Given the description of an element on the screen output the (x, y) to click on. 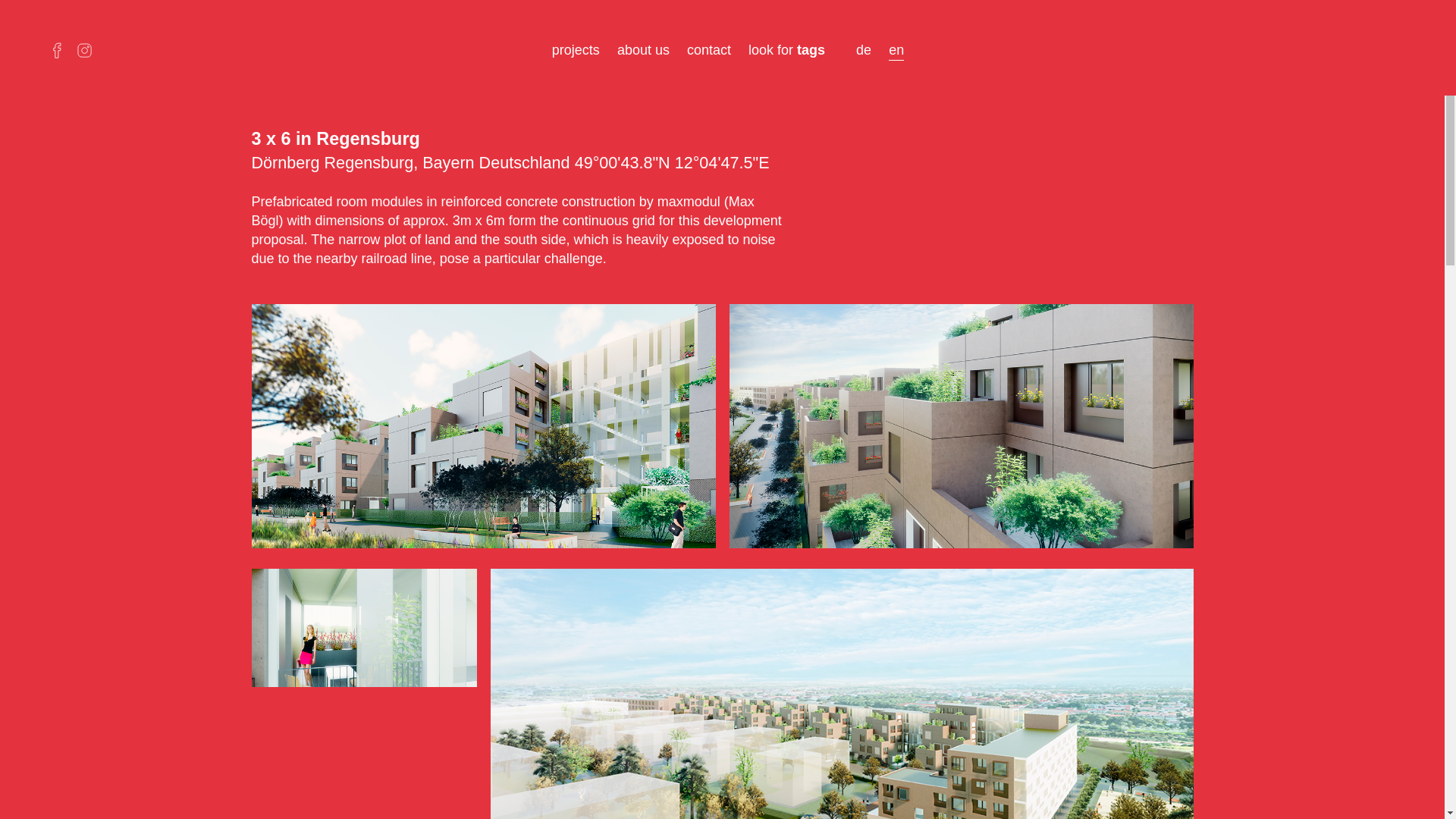
about us (643, 49)
x (1406, 49)
look for tags (793, 49)
stand by beauty (1365, 49)
contact (708, 49)
homebase (1330, 49)
projects (575, 49)
